Given the description of an element on the screen output the (x, y) to click on. 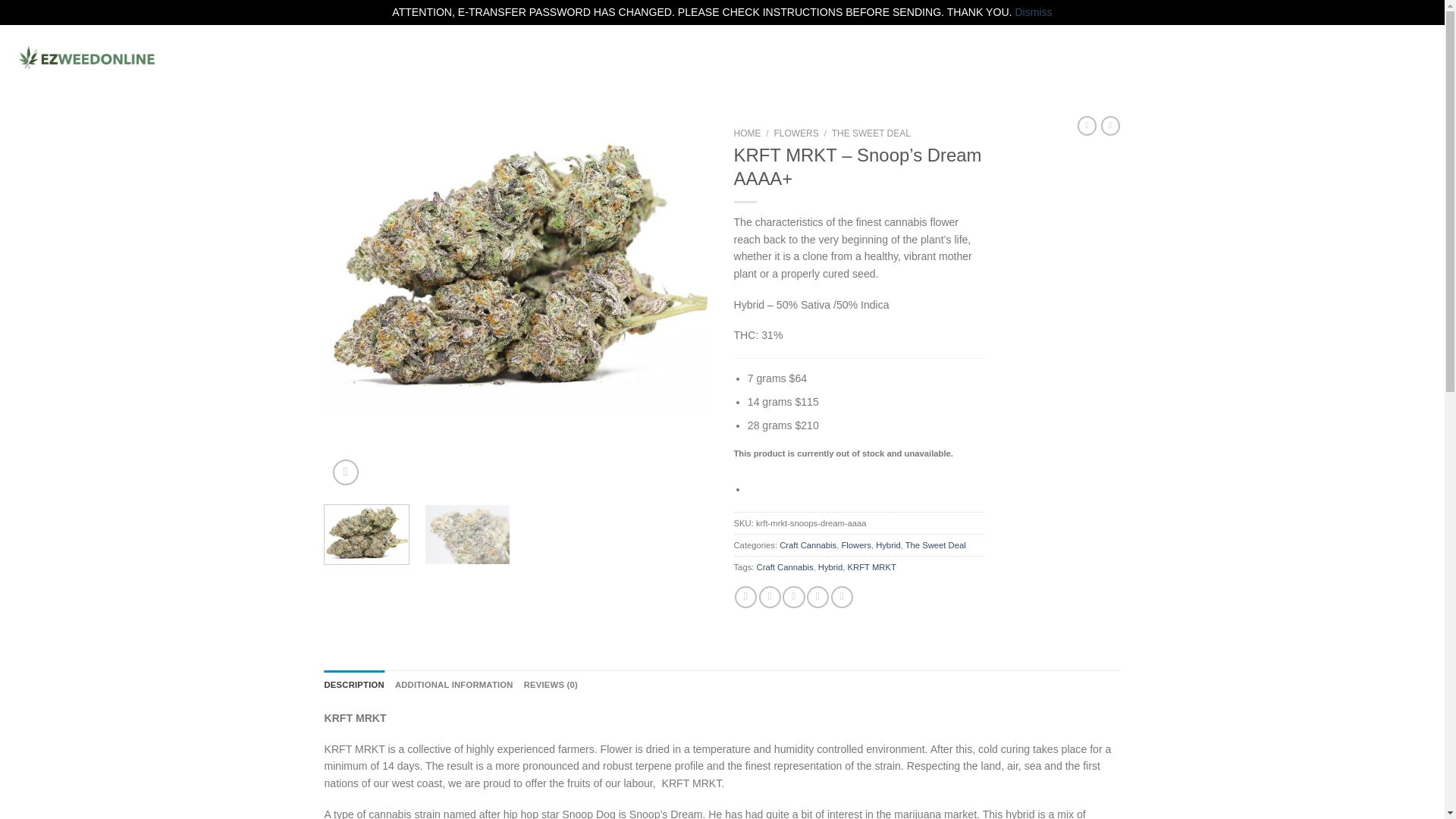
Share on Facebook (746, 597)
Email to a Friend (794, 597)
FLOWERS (293, 57)
SHROOMS (614, 57)
DEALS (230, 57)
Dismiss (1032, 11)
CONCENTRATES (387, 57)
Share on LinkedIn (842, 597)
HEALTH (543, 57)
Zoom (345, 472)
Pin on Pinterest (817, 597)
Share on Twitter (769, 597)
Cart (1383, 57)
EDIBLES (477, 57)
